Given the description of an element on the screen output the (x, y) to click on. 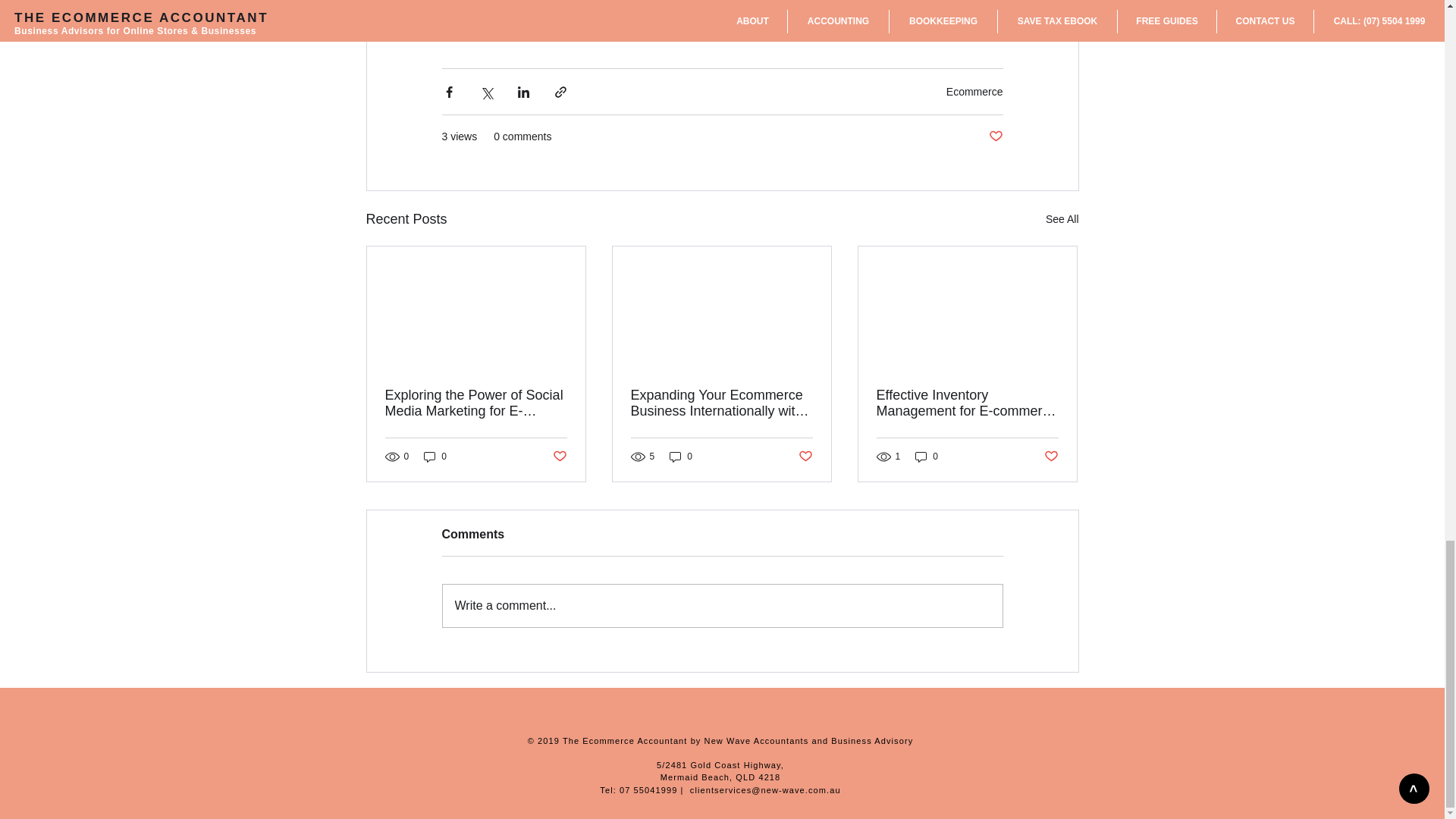
accountants for e-commerce businesses (716, 3)
Post not marked as liked (558, 455)
See All (1061, 219)
Ecommerce (974, 91)
0 (435, 456)
Post not marked as liked (995, 136)
0 (681, 456)
Post not marked as liked (804, 455)
